Given the description of an element on the screen output the (x, y) to click on. 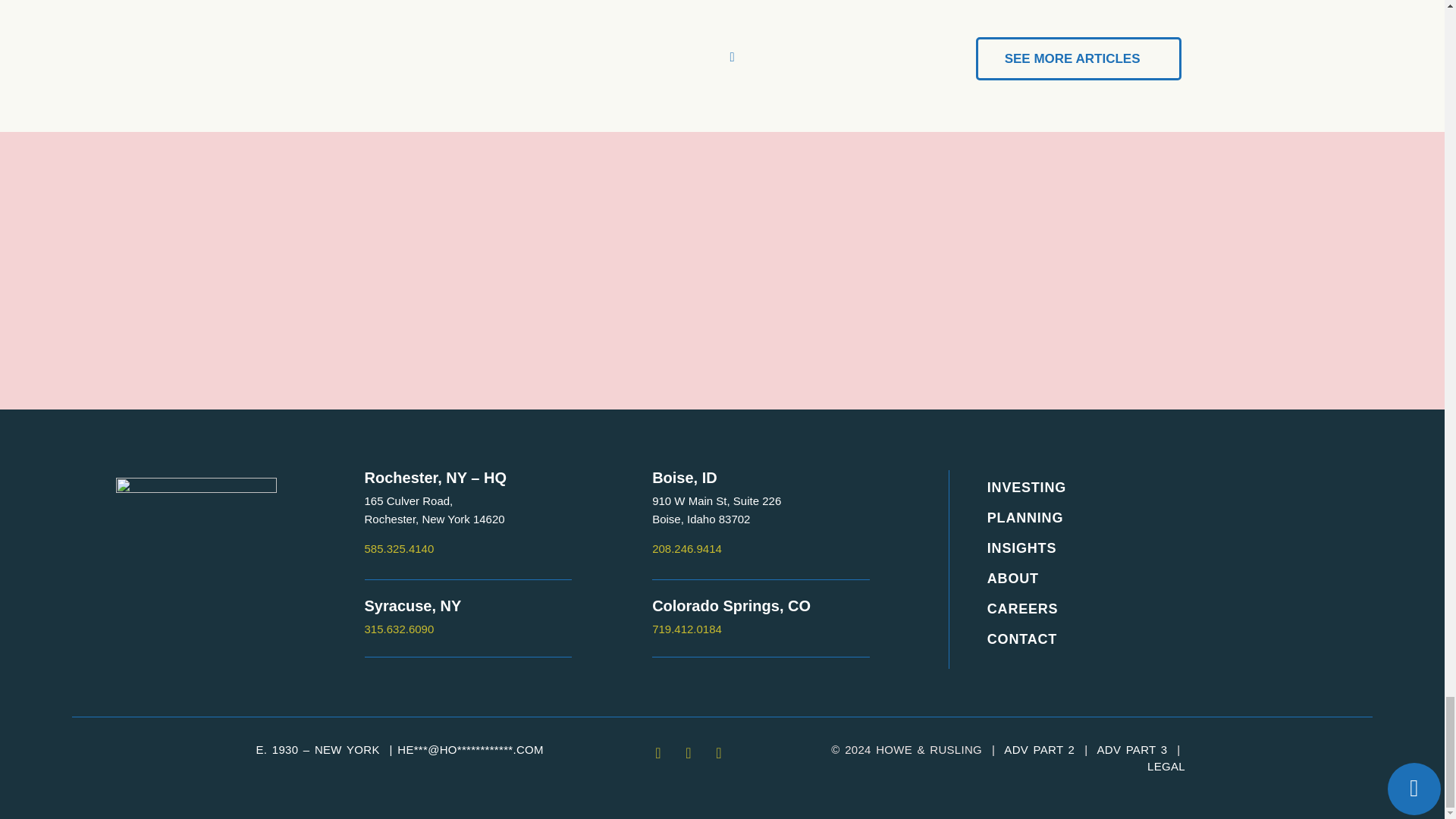
SEE MORE ARTICLES (1077, 58)
PLANNING (1153, 518)
208.246.9414 (687, 548)
315.632.6090 (399, 628)
INVESTING (1153, 487)
Boise, ID (435, 509)
719.412.0184 (684, 477)
585.325.4140 (687, 628)
Syracuse, NY (399, 548)
Colorado Springs, CO (413, 605)
